Given the description of an element on the screen output the (x, y) to click on. 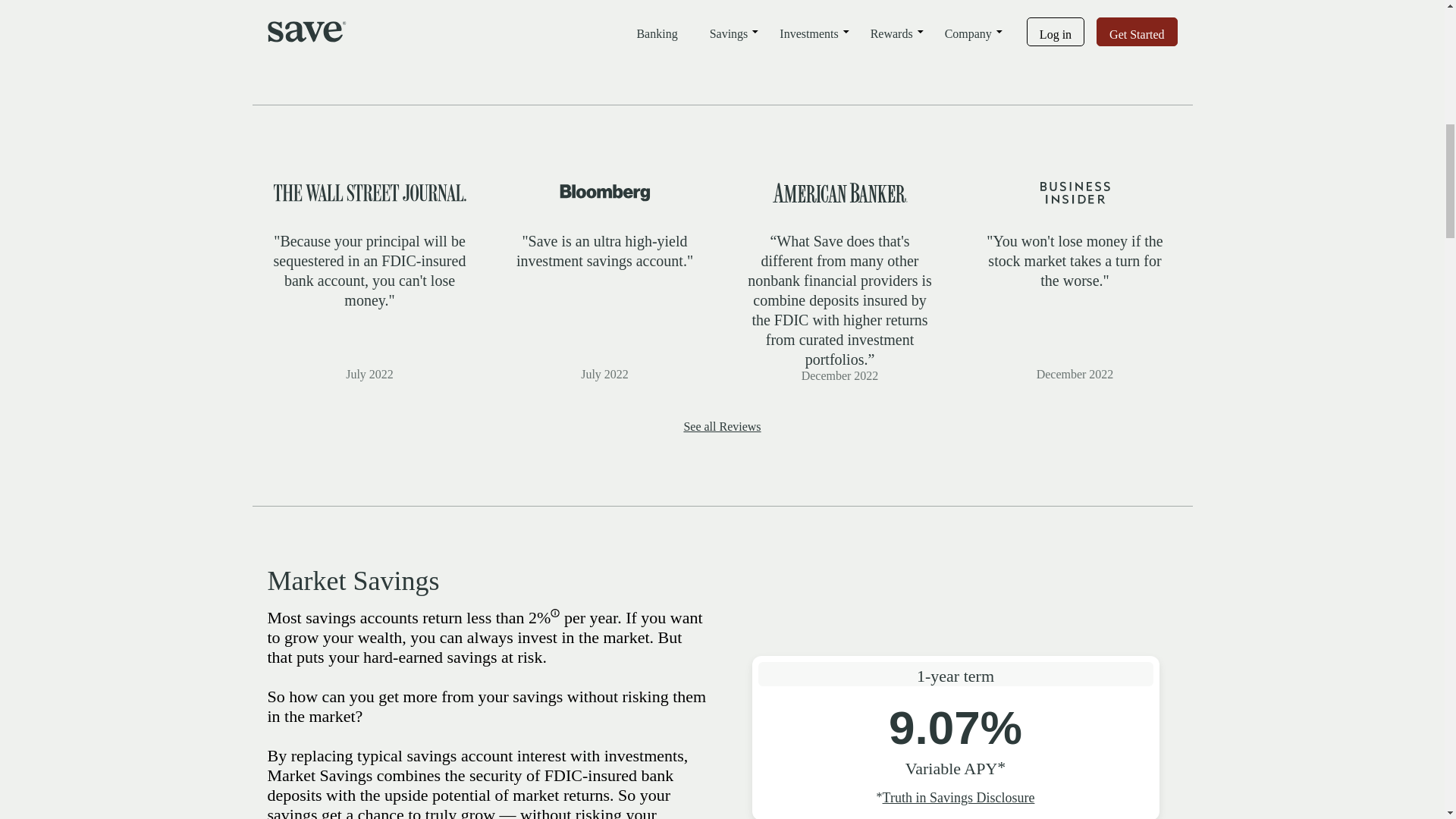
See all Reviews (721, 426)
"Save is an ultra high-yield investment savings account." (604, 283)
